Given the description of an element on the screen output the (x, y) to click on. 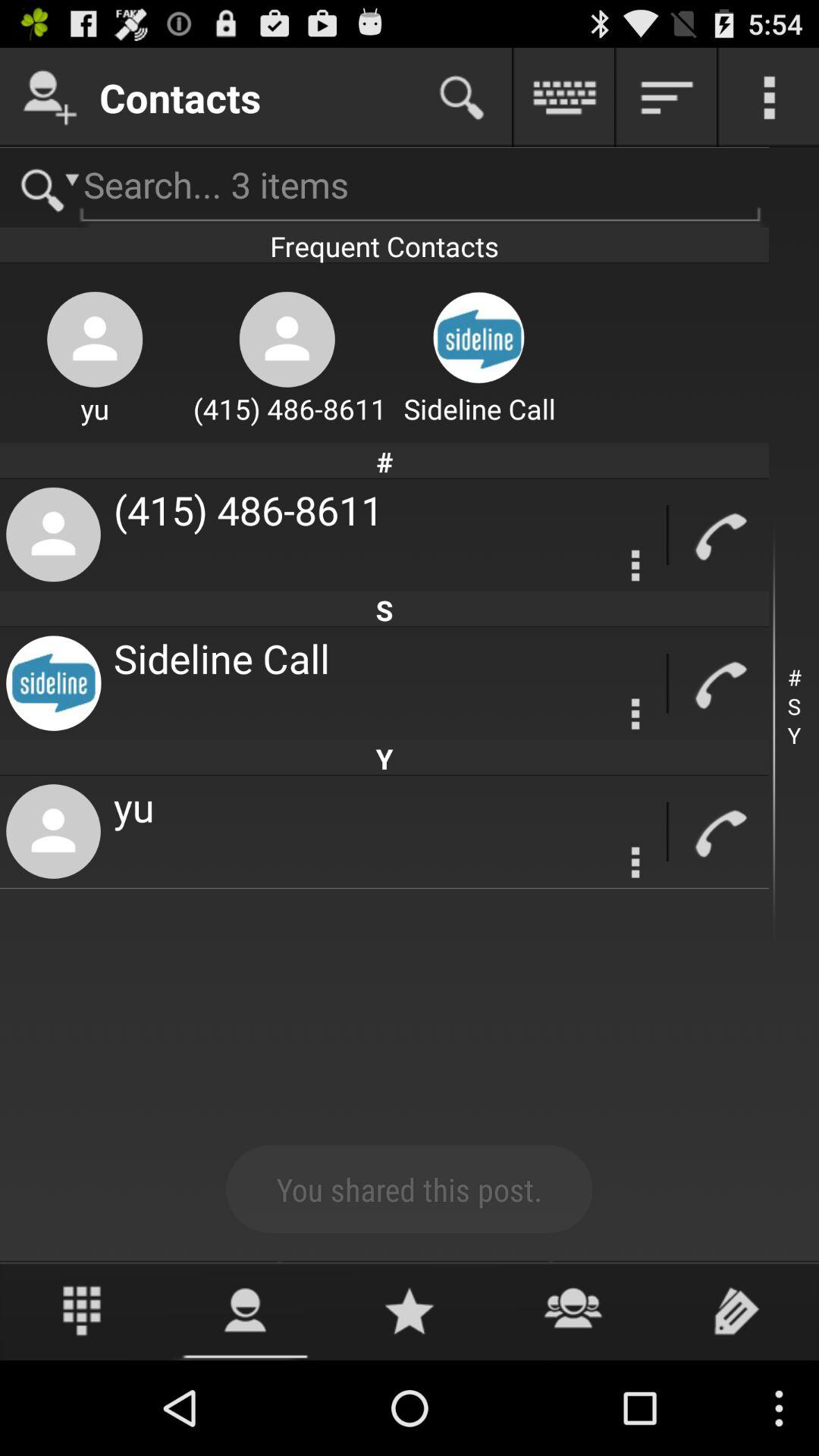
search option (43, 187)
